Given the description of an element on the screen output the (x, y) to click on. 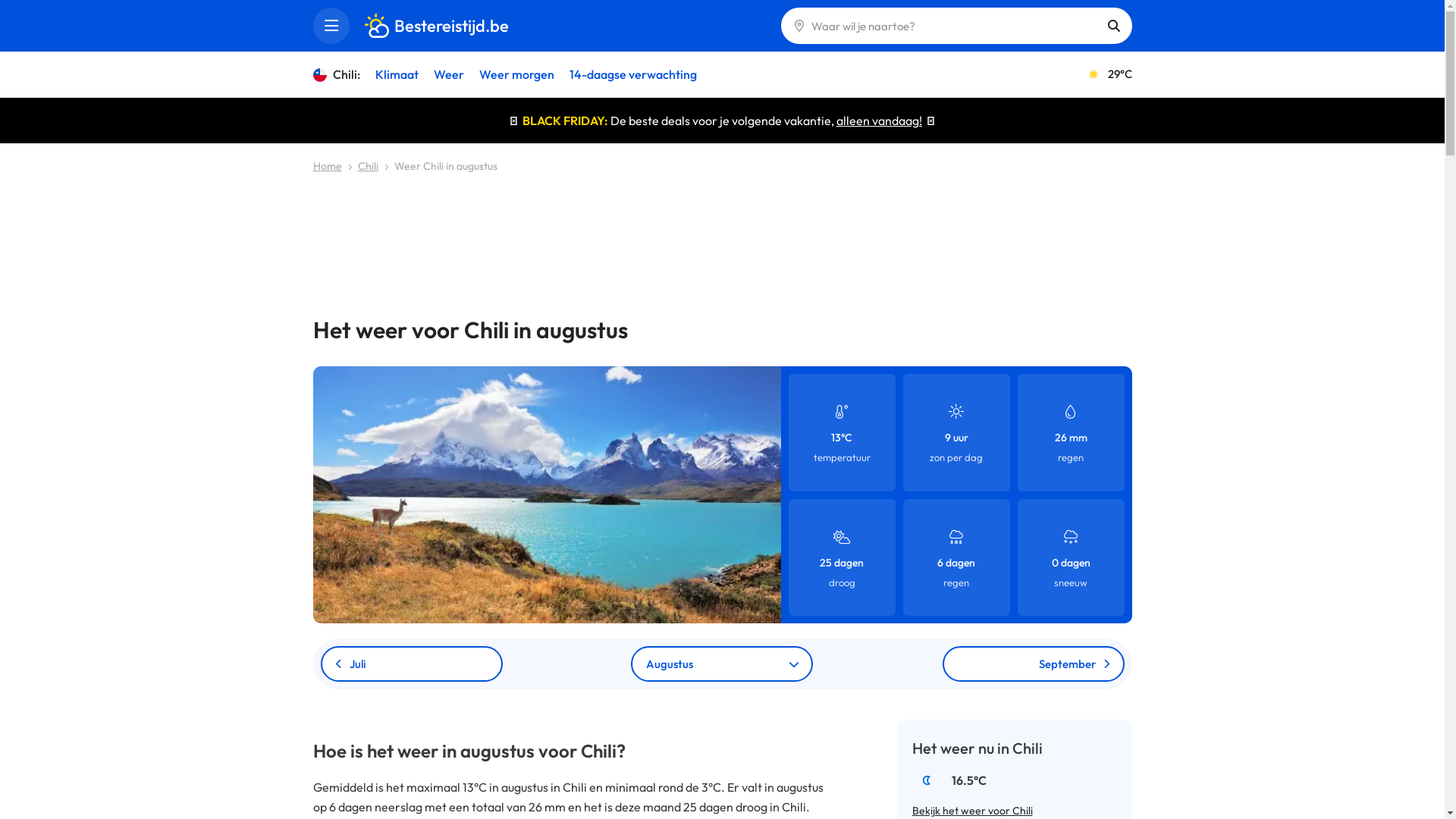
Advertisement Element type: hover (721, 236)
Klimaat Element type: text (396, 74)
14-daagse verwachting Element type: text (632, 74)
Chili Element type: text (367, 165)
Weer morgen Element type: text (515, 74)
Weer Element type: text (448, 74)
Weer Chili in augustus Element type: text (445, 165)
Juli Element type: text (411, 663)
Weer Chili en 14-daagse weersverwachting Element type: hover (546, 494)
Bekijk het weer voor Chili Element type: text (971, 810)
September Element type: text (1032, 663)
Bestereistijd.be Element type: text (436, 25)
Home Element type: text (326, 165)
